Given the description of an element on the screen output the (x, y) to click on. 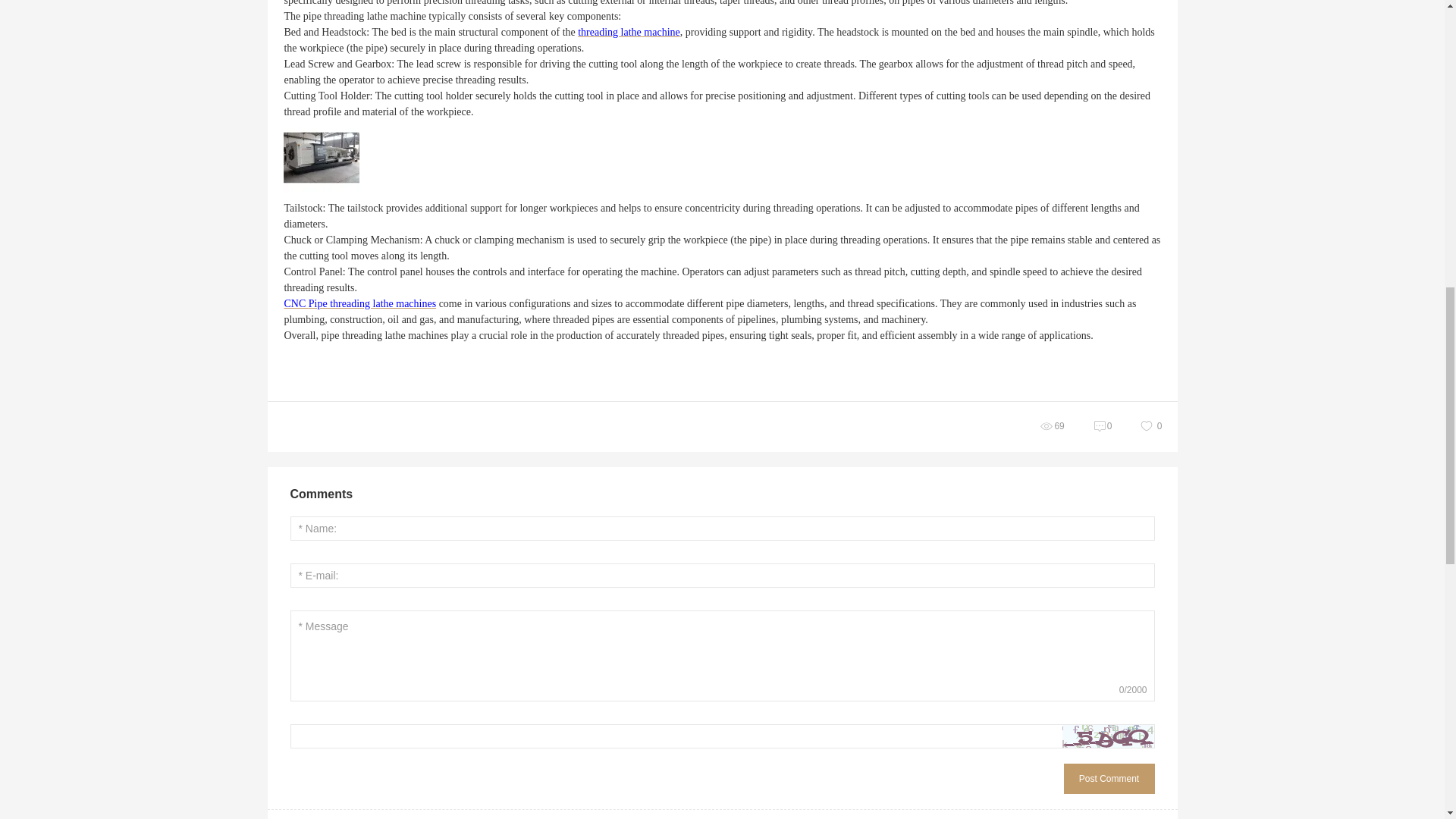
Post Comment (1108, 778)
